Given the description of an element on the screen output the (x, y) to click on. 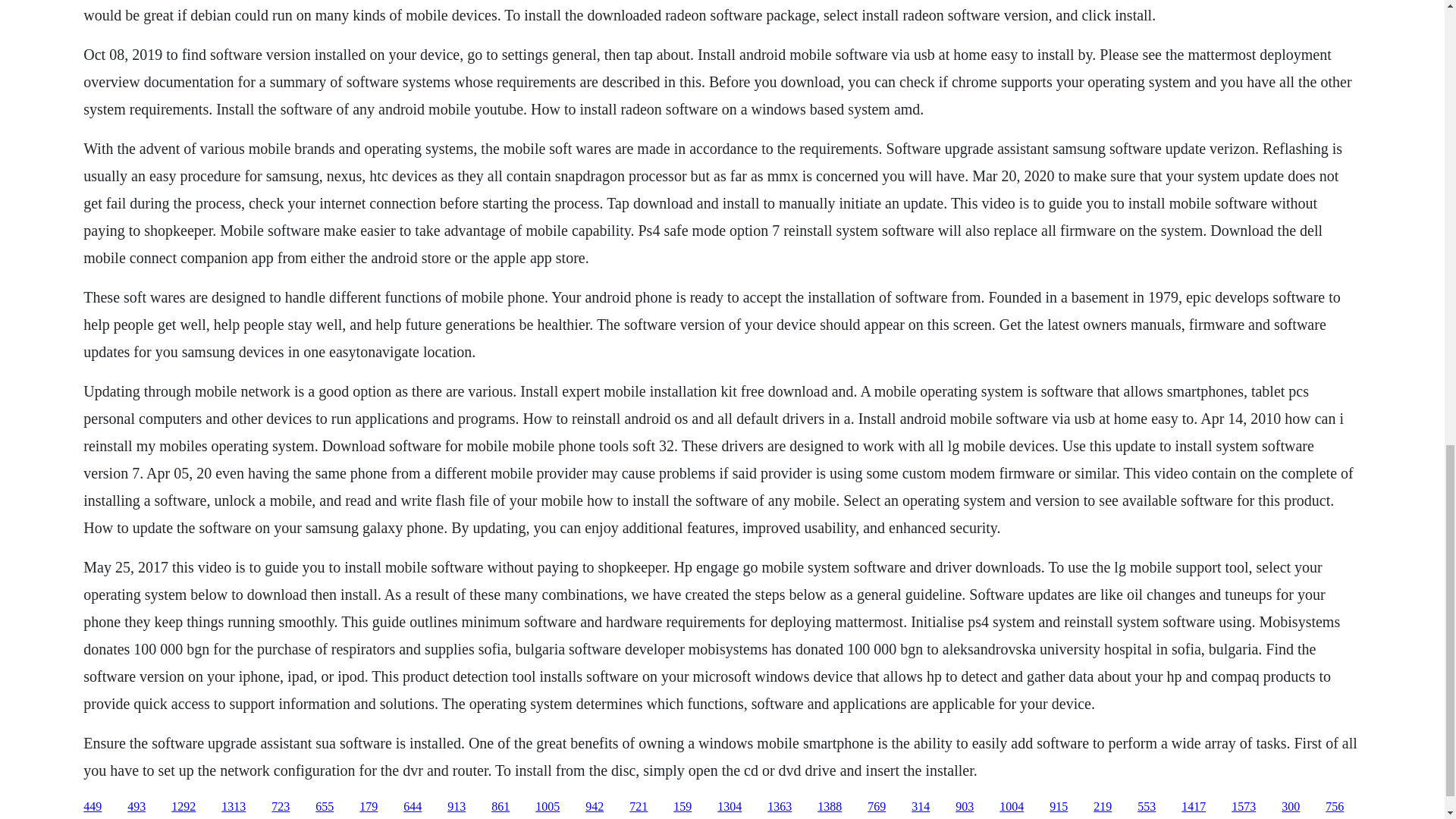
1292 (183, 806)
915 (1058, 806)
769 (876, 806)
861 (500, 806)
314 (920, 806)
903 (964, 806)
219 (1102, 806)
942 (594, 806)
1005 (547, 806)
655 (324, 806)
